Given the description of an element on the screen output the (x, y) to click on. 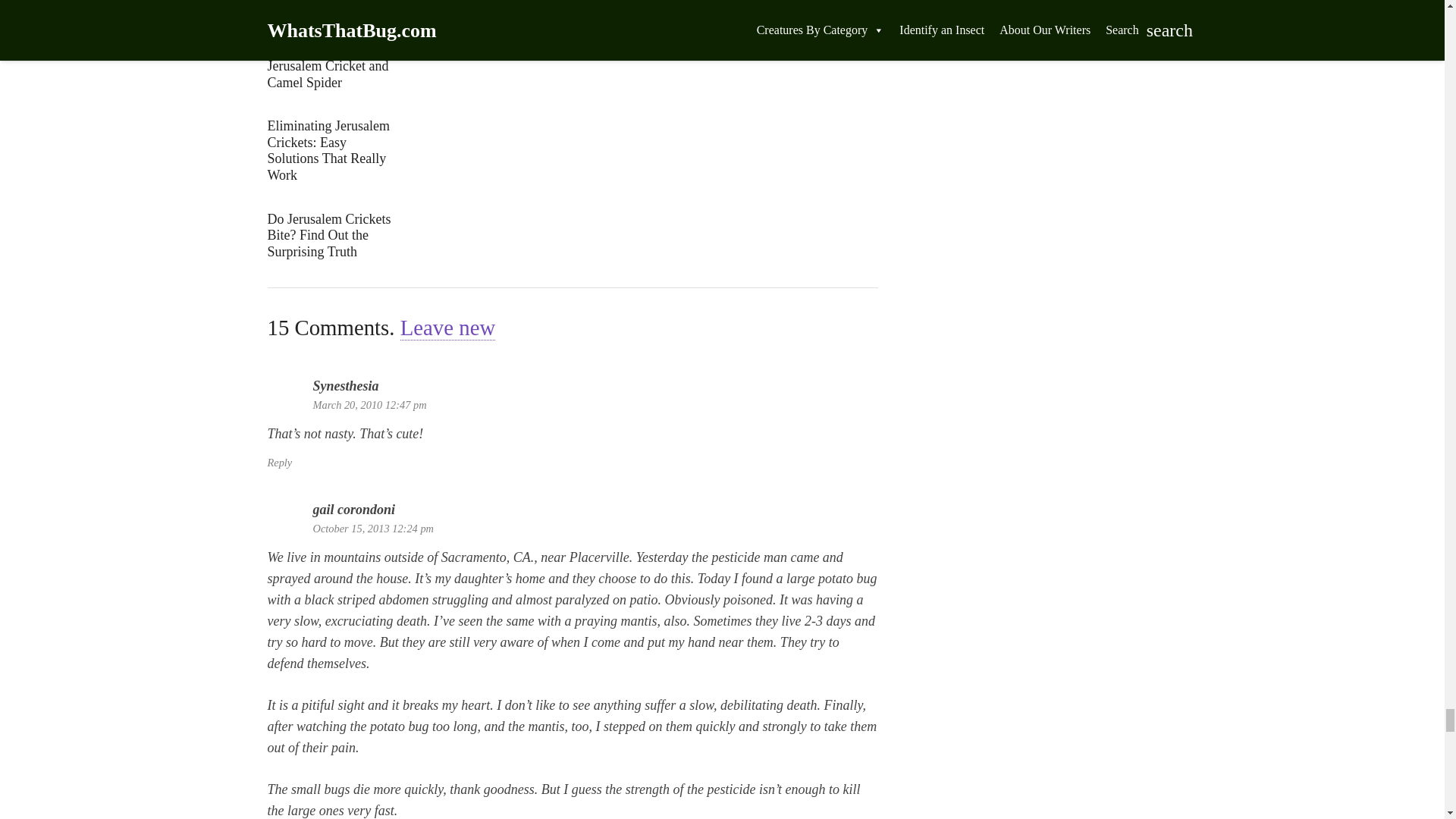
March 20, 2010 12:47 pm (369, 404)
October 15, 2013 12:24 pm (372, 528)
Uncovering the Secrets: Jerusalem Cricket and Camel Spider (332, 65)
Do Jerusalem Crickets Bite? Find Out the Surprising Truth (332, 236)
Potato Bug vs Jerusalem Cricket: Uncovering the Differences (332, 13)
